Given the description of an element on the screen output the (x, y) to click on. 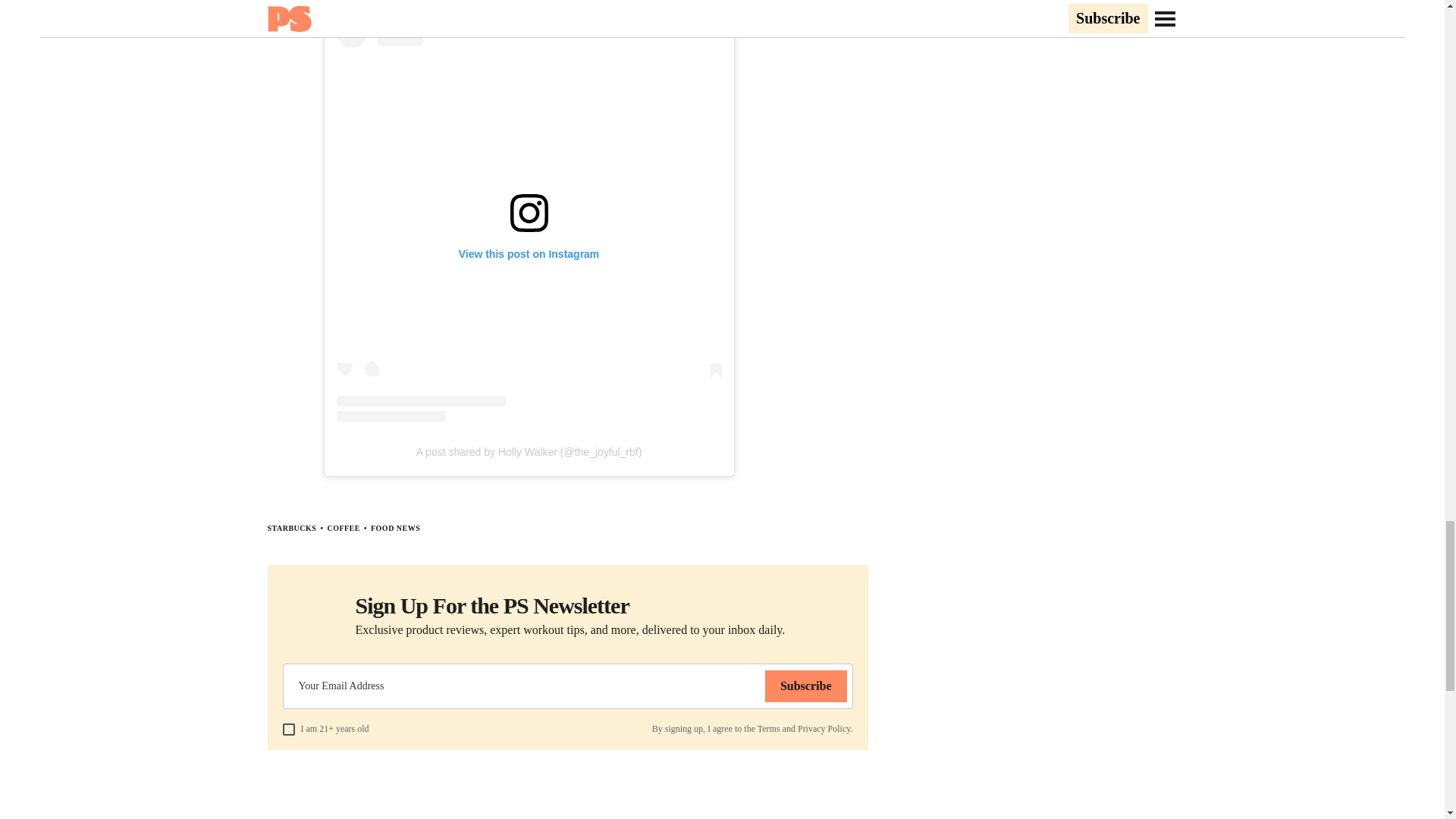
FOOD NEWS (395, 528)
Terms (768, 728)
COFFEE (342, 528)
STARBUCKS (290, 528)
Subscribe (806, 685)
Privacy Policy. (825, 728)
